Given the description of an element on the screen output the (x, y) to click on. 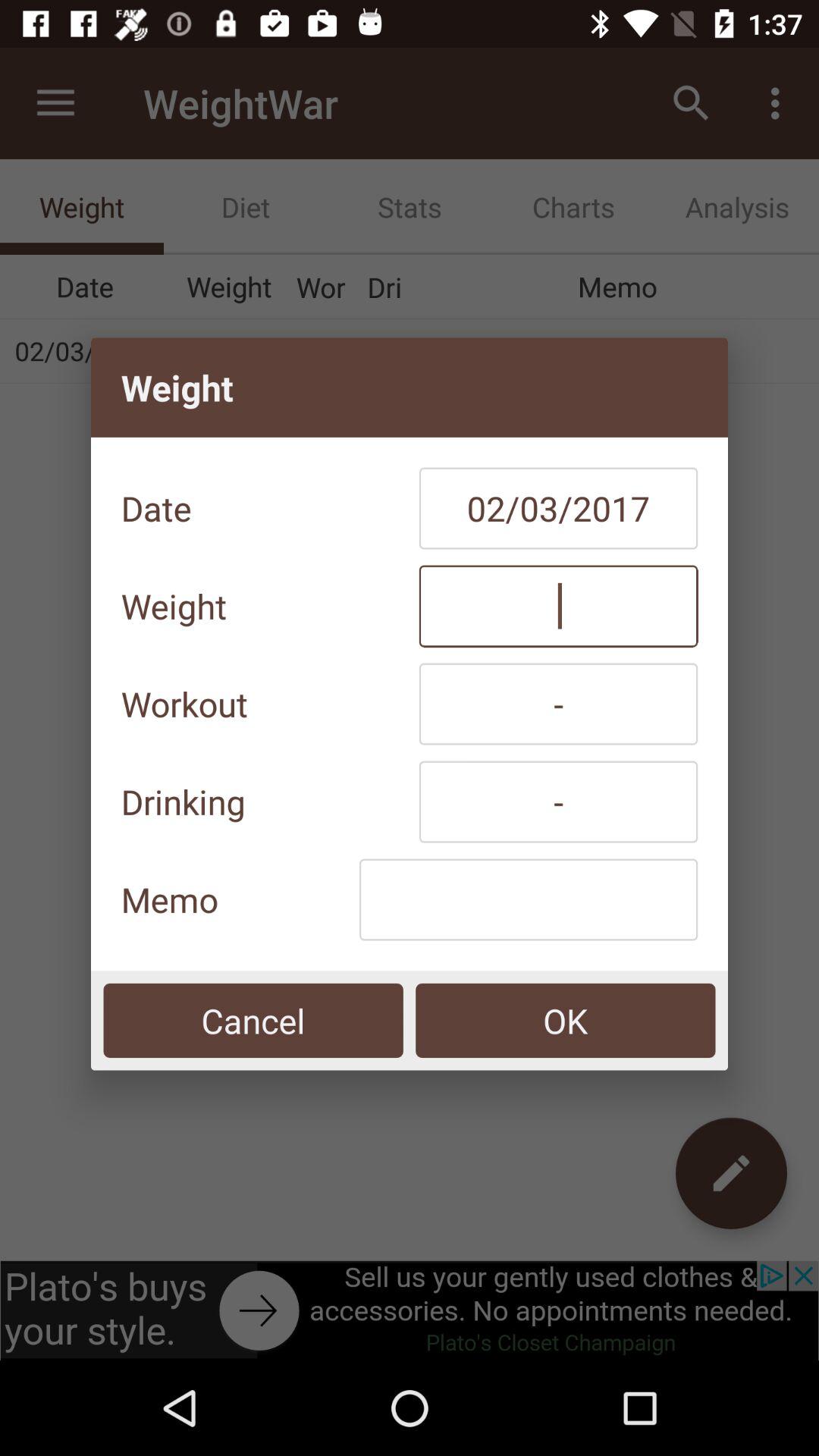
tap the ok (565, 1020)
